Given the description of an element on the screen output the (x, y) to click on. 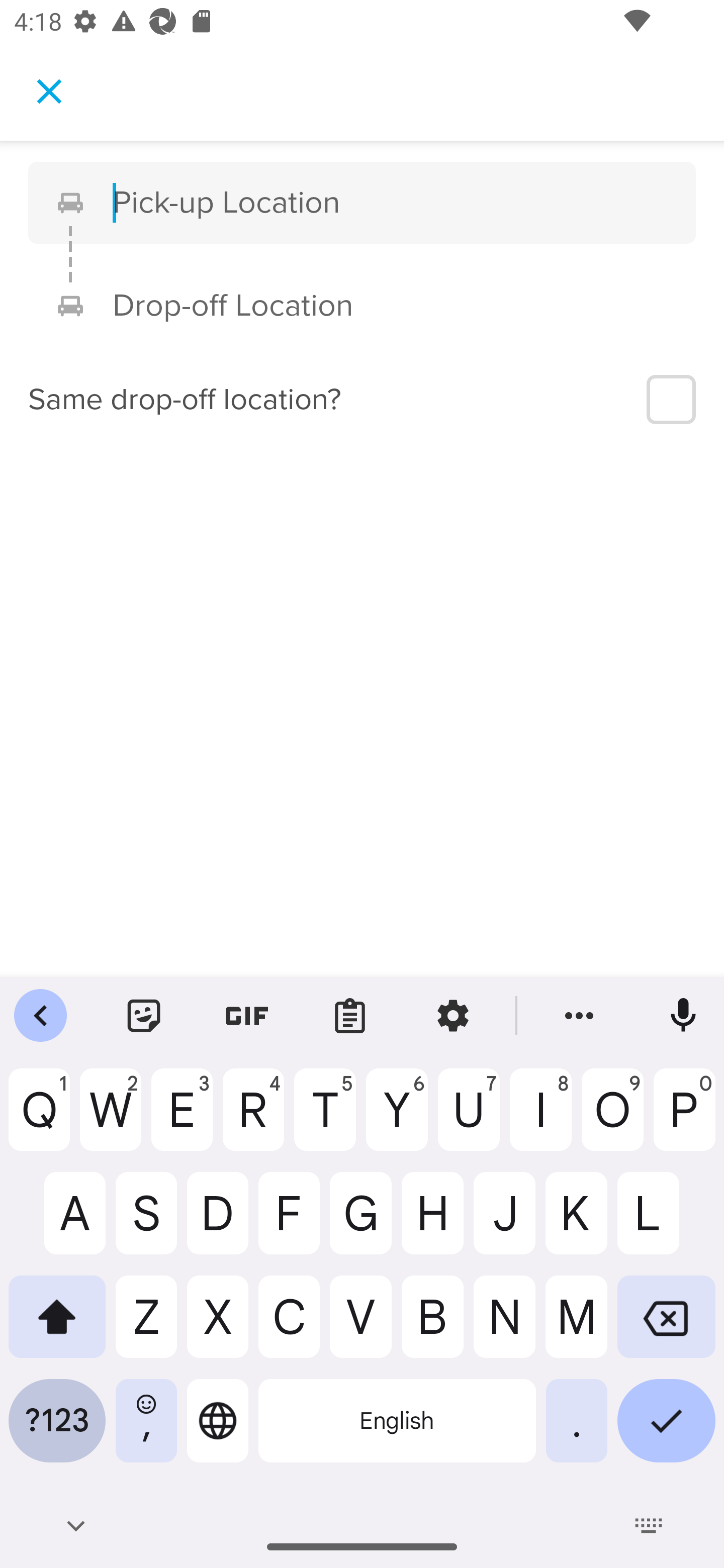
Pick-up Location (389, 202)
Drop-off Location (389, 305)
